Given the description of an element on the screen output the (x, y) to click on. 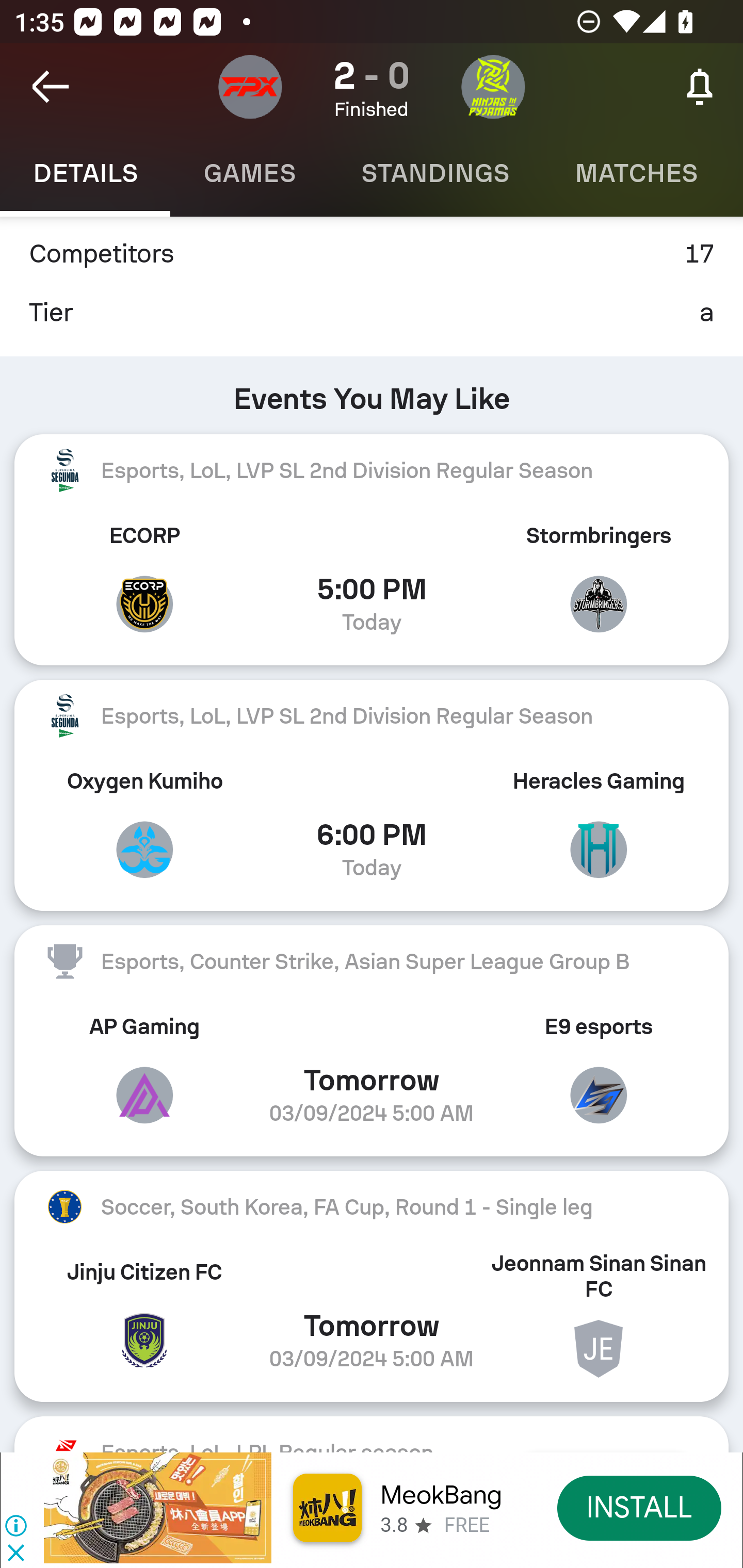
Navigate up (50, 86)
Games GAMES (249, 173)
Standings STANDINGS (434, 173)
Matches MATCHES (635, 173)
Events You May Like (371, 390)
Esports, LoL, LVP SL 2nd Division Regular Season (371, 470)
Esports, LoL, LVP SL 2nd Division Regular Season (371, 716)
Soccer, South Korea, FA Cup, Round 1 - Single leg (371, 1207)
INSTALL (639, 1507)
MeokBang (440, 1494)
